Given the description of an element on the screen output the (x, y) to click on. 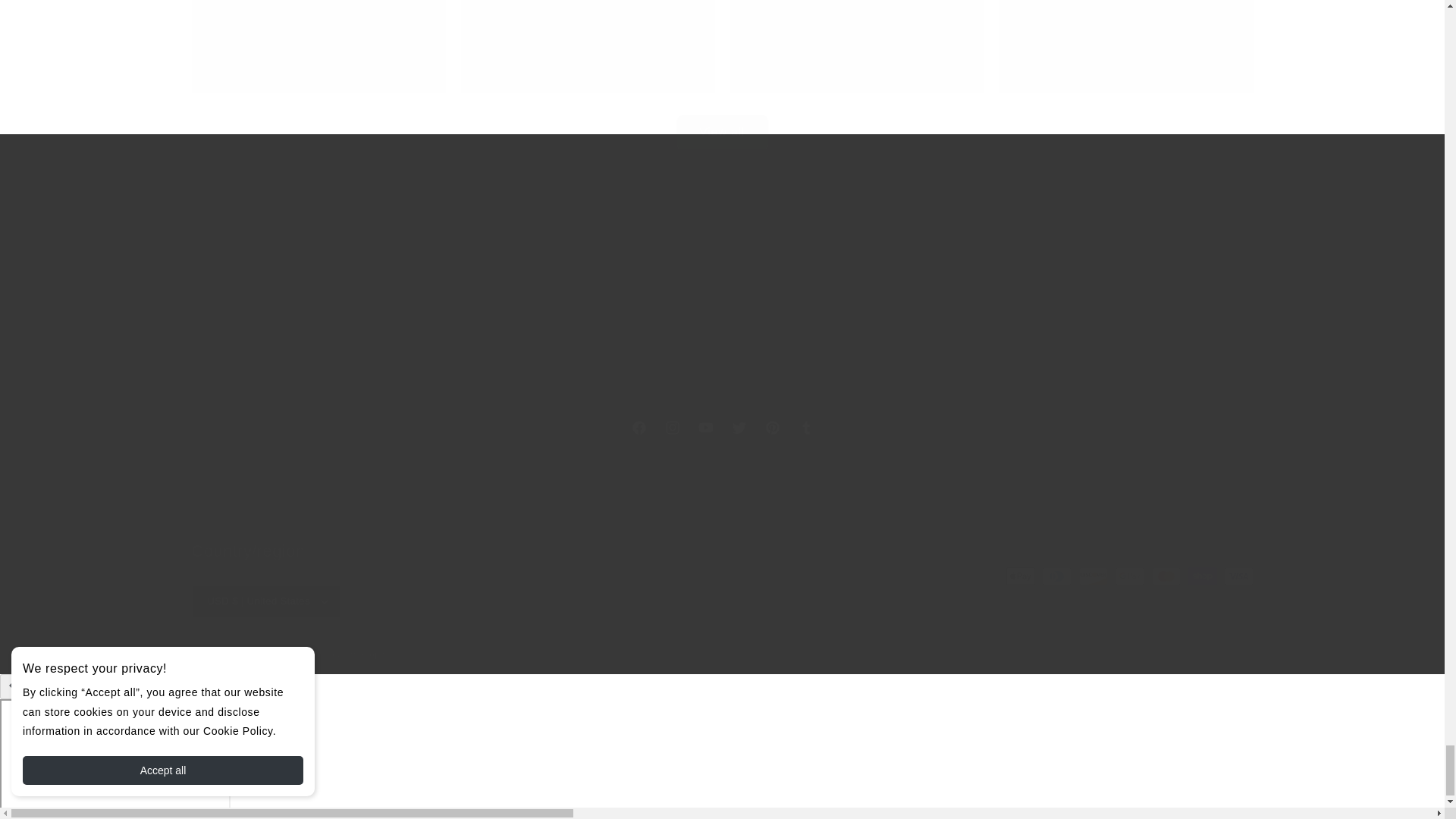
View all (721, 427)
